Given the description of an element on the screen output the (x, y) to click on. 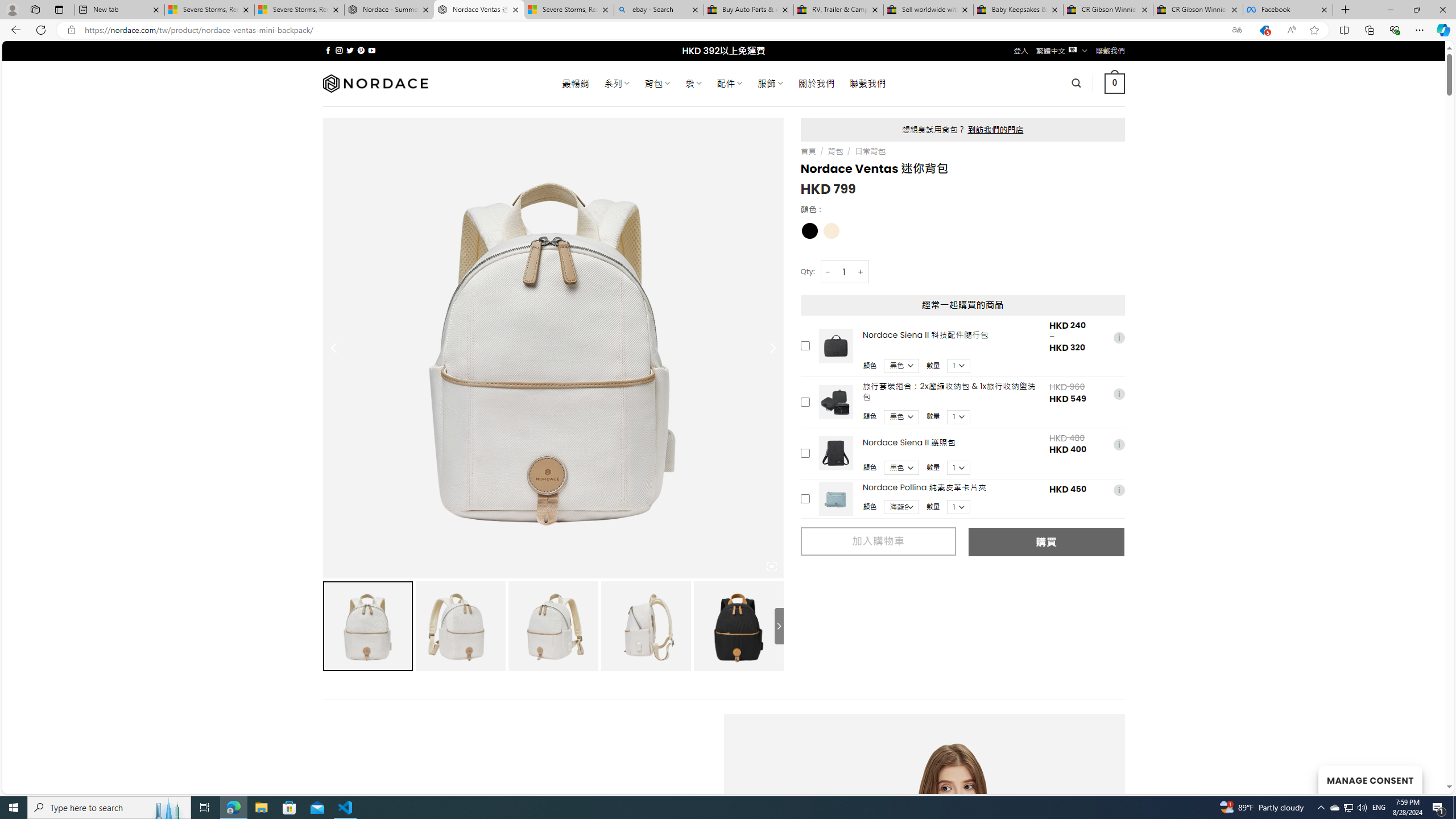
i (1118, 490)
Add this product to cart (804, 498)
 0  (1115, 83)
RV, Trailer & Camper Steps & Ladders for sale | eBay (838, 9)
+ (861, 272)
Follow on YouTube (371, 50)
Facebook (1287, 9)
